Given the description of an element on the screen output the (x, y) to click on. 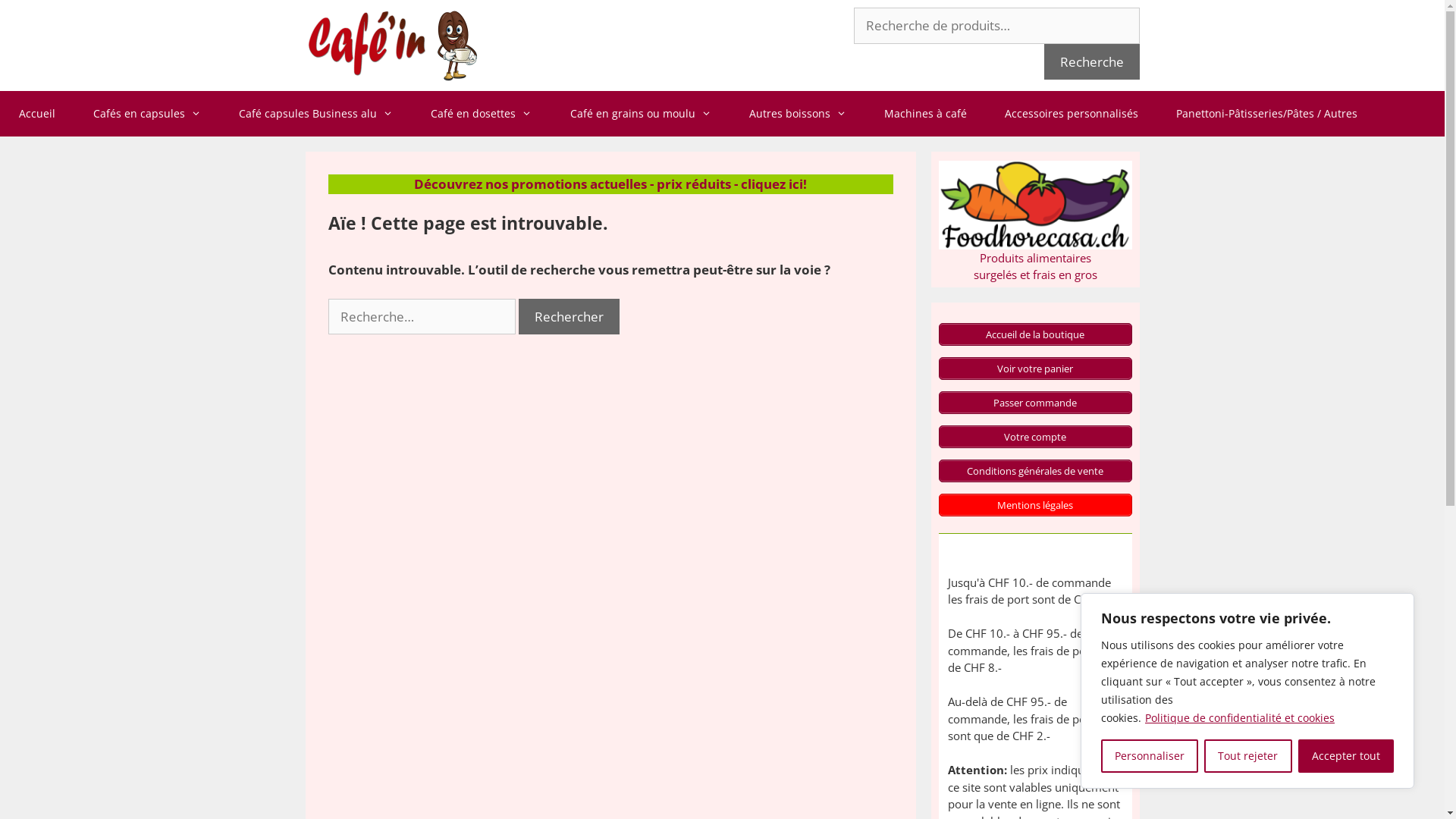
Autres boissons Element type: text (797, 113)
Tout rejeter Element type: text (1247, 755)
Accueil de la boutique Element type: text (1035, 334)
Passer commande Element type: text (1035, 402)
Rechercher Element type: text (568, 316)
Voir votre panier Element type: text (1035, 368)
Accueil Element type: text (37, 113)
Personnaliser Element type: text (1149, 755)
Recherche Element type: text (1091, 61)
Accepter tout Element type: text (1345, 755)
Votre compte Element type: text (1035, 436)
